Given the description of an element on the screen output the (x, y) to click on. 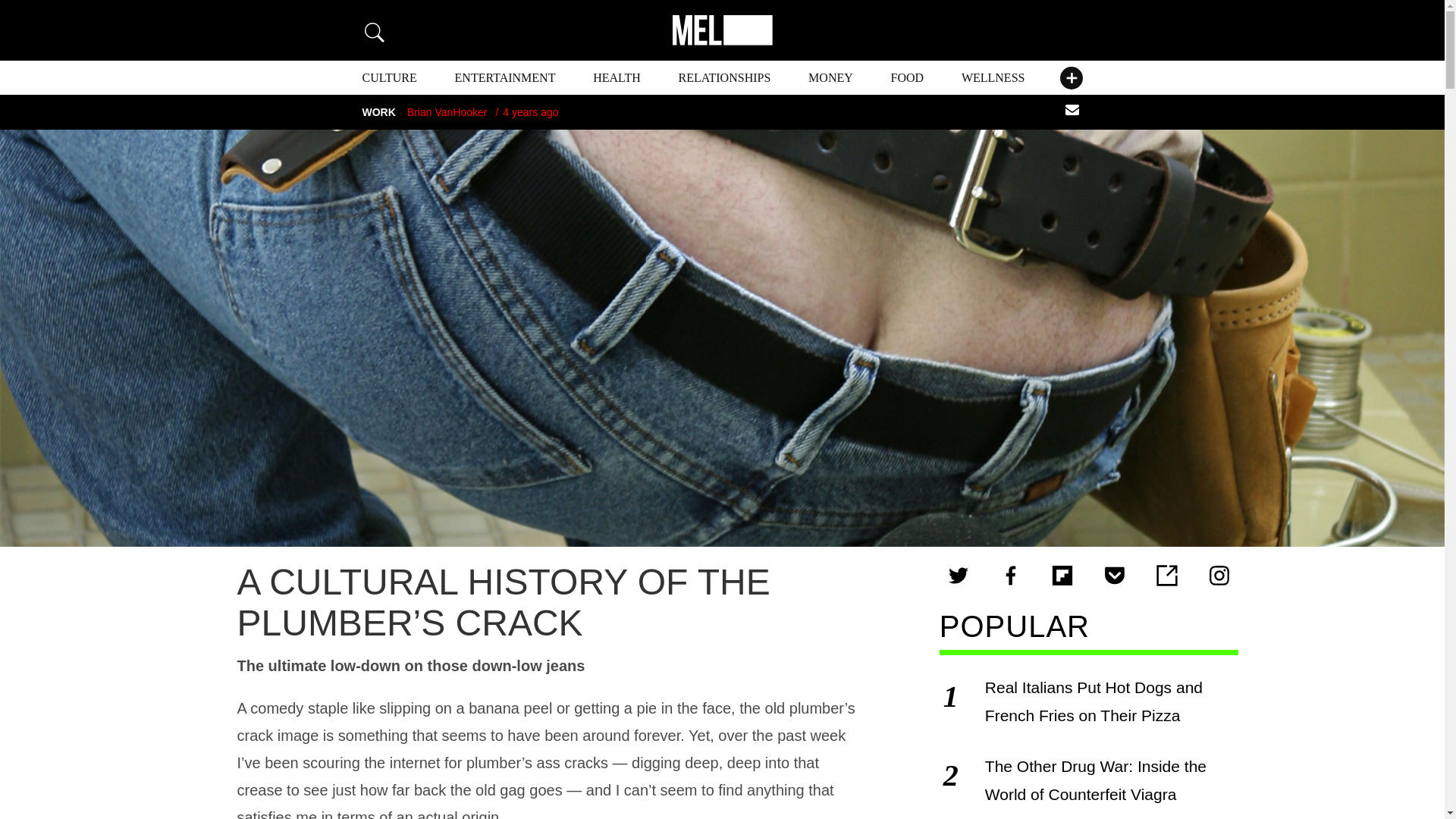
RELATIONSHIPS (724, 77)
Copy Link (1166, 575)
ENTERTAINMENT (505, 77)
Facebook (1010, 575)
MEL Magazine (721, 30)
HEALTH (616, 77)
FOOD (907, 77)
Posts by Brian VanHooker (447, 111)
WELLNESS (992, 77)
Flipboard (1061, 575)
